Given the description of an element on the screen output the (x, y) to click on. 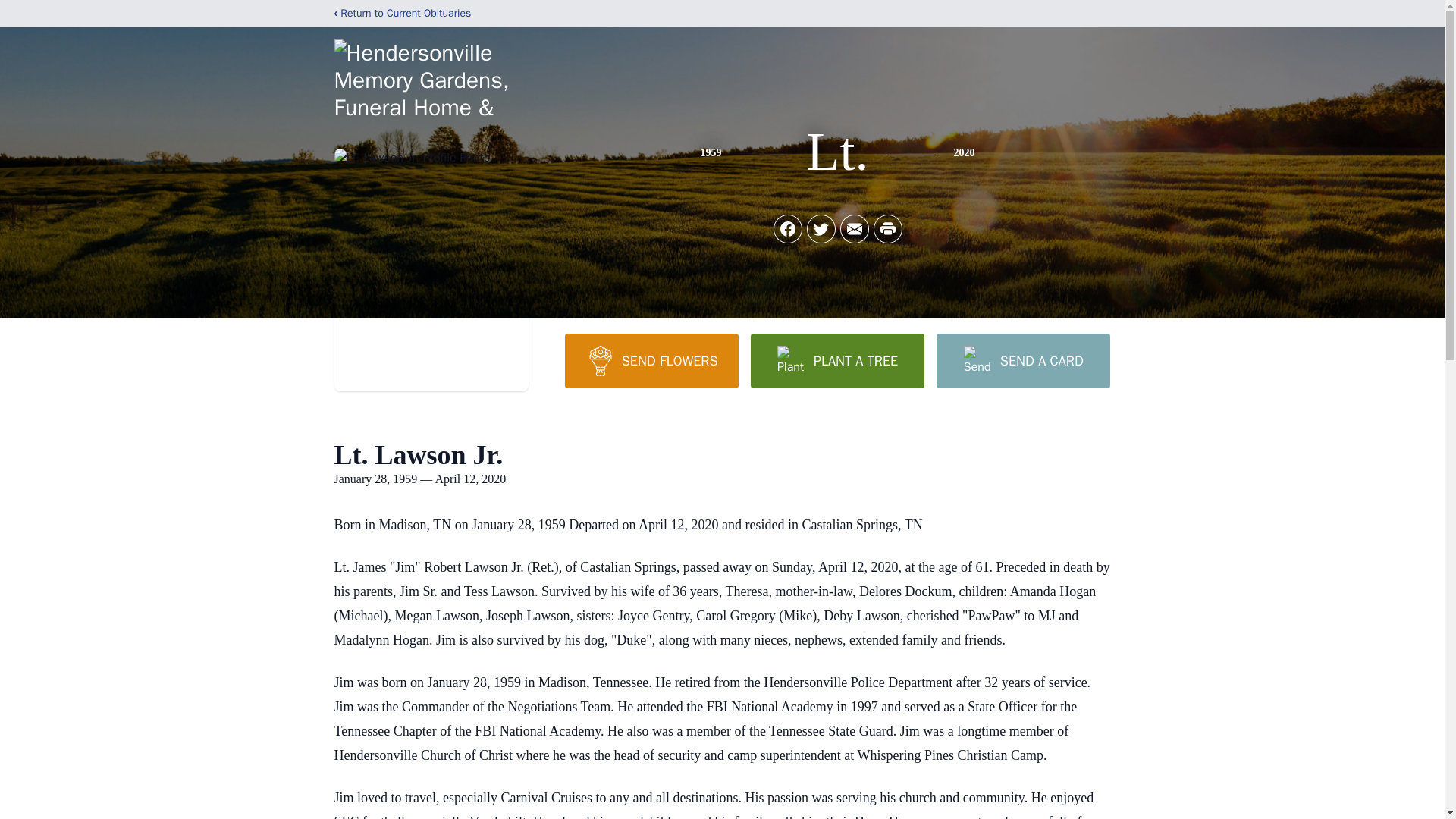
PLANT A TREE (837, 360)
SEND A CARD (1022, 360)
SEND FLOWERS (651, 360)
